Given the description of an element on the screen output the (x, y) to click on. 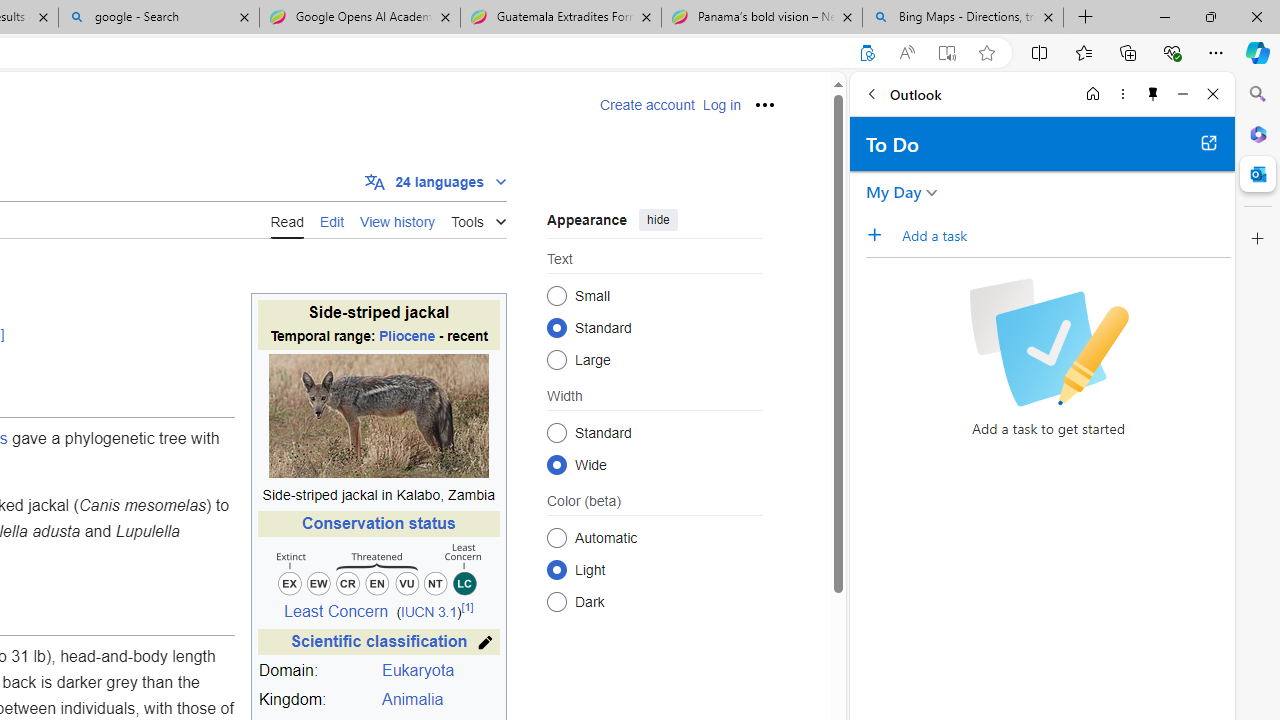
Light (556, 569)
Animalia (440, 700)
Log in (721, 105)
View history (397, 219)
IUCN 3.1 (427, 612)
hide (658, 219)
Conservation status (377, 523)
